Given the description of an element on the screen output the (x, y) to click on. 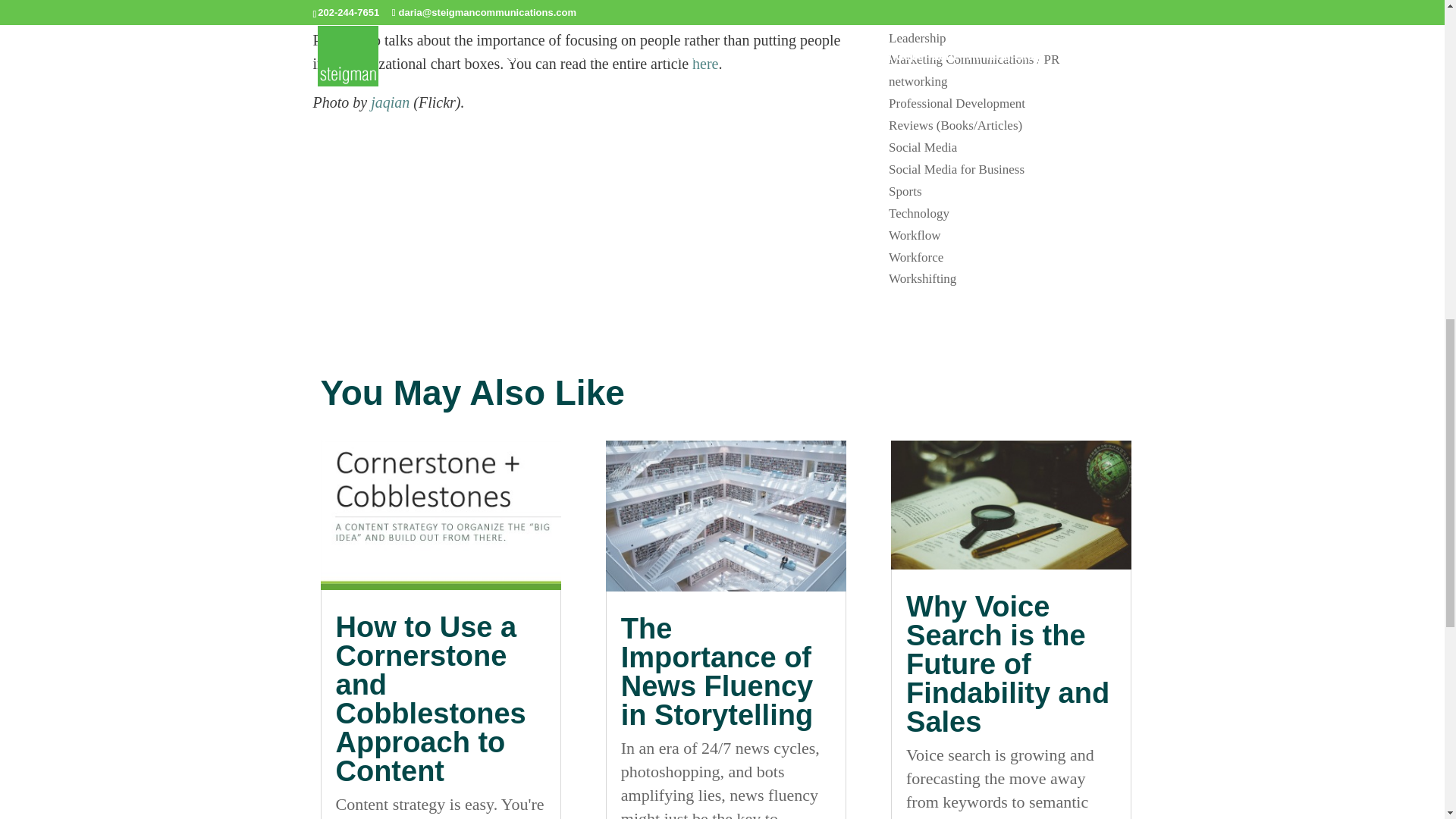
networking (917, 81)
Leadership (917, 38)
innovation (915, 16)
photo credit (390, 102)
Social Media for Business (956, 169)
Independent Thinking (945, 0)
Nike CEO Parker on Business, Management (705, 63)
Professional Development (956, 103)
jaqian (390, 102)
here (705, 63)
Social Media (922, 147)
